Given the description of an element on the screen output the (x, y) to click on. 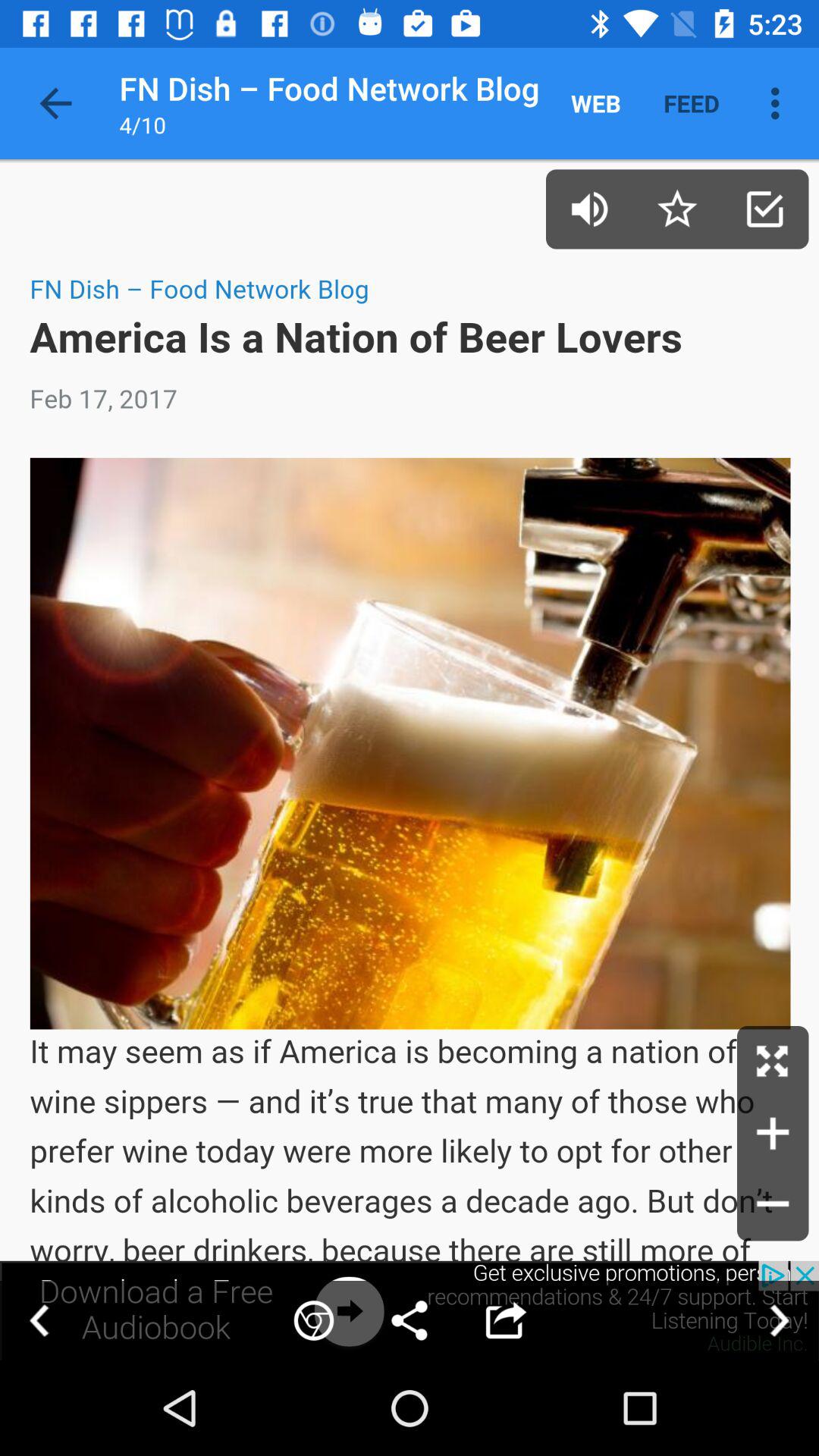
favorite (677, 209)
